Given the description of an element on the screen output the (x, y) to click on. 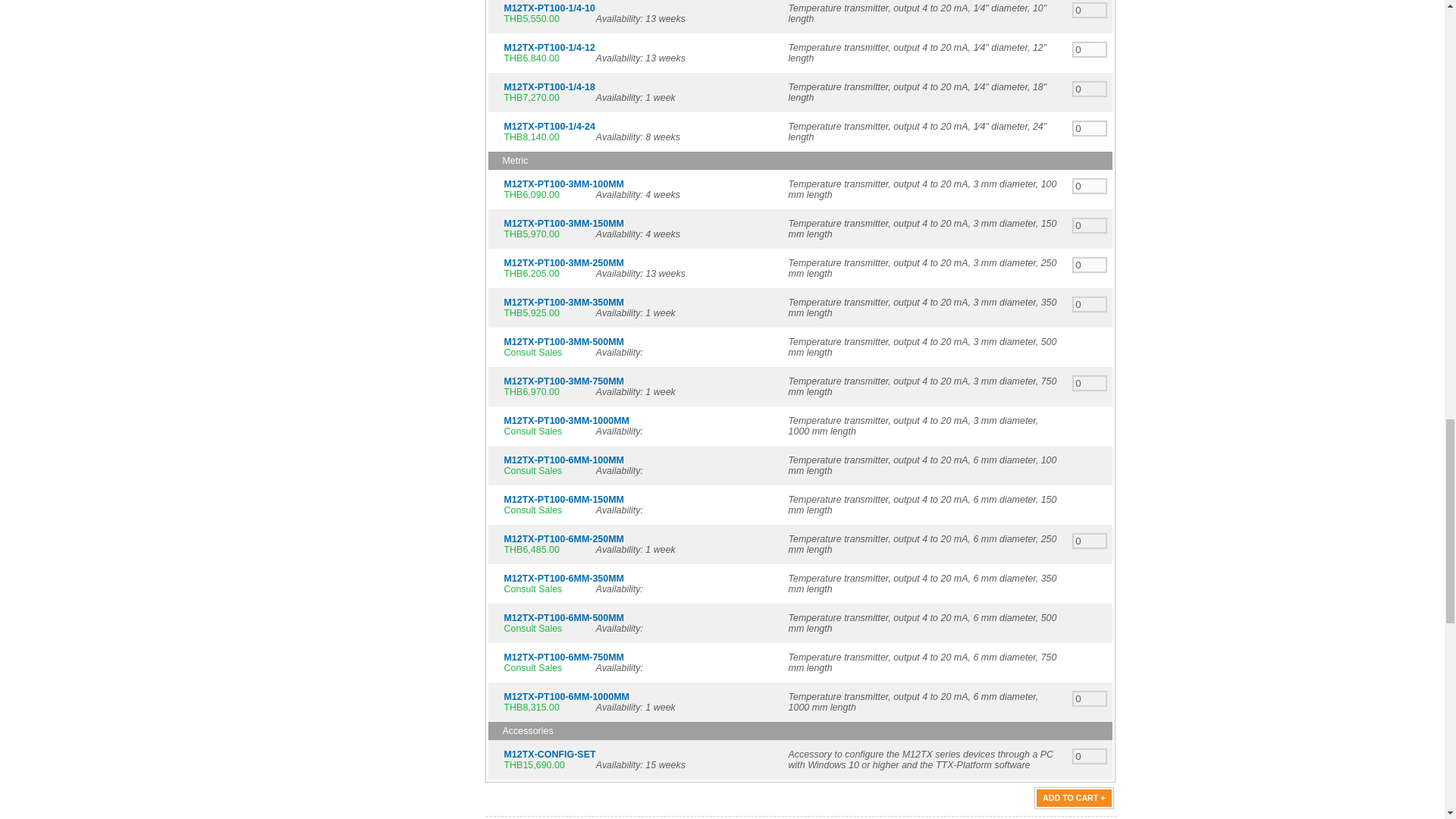
0 (1089, 186)
0 (1089, 10)
0 (1089, 49)
0 (1089, 88)
0 (1089, 128)
